Given the description of an element on the screen output the (x, y) to click on. 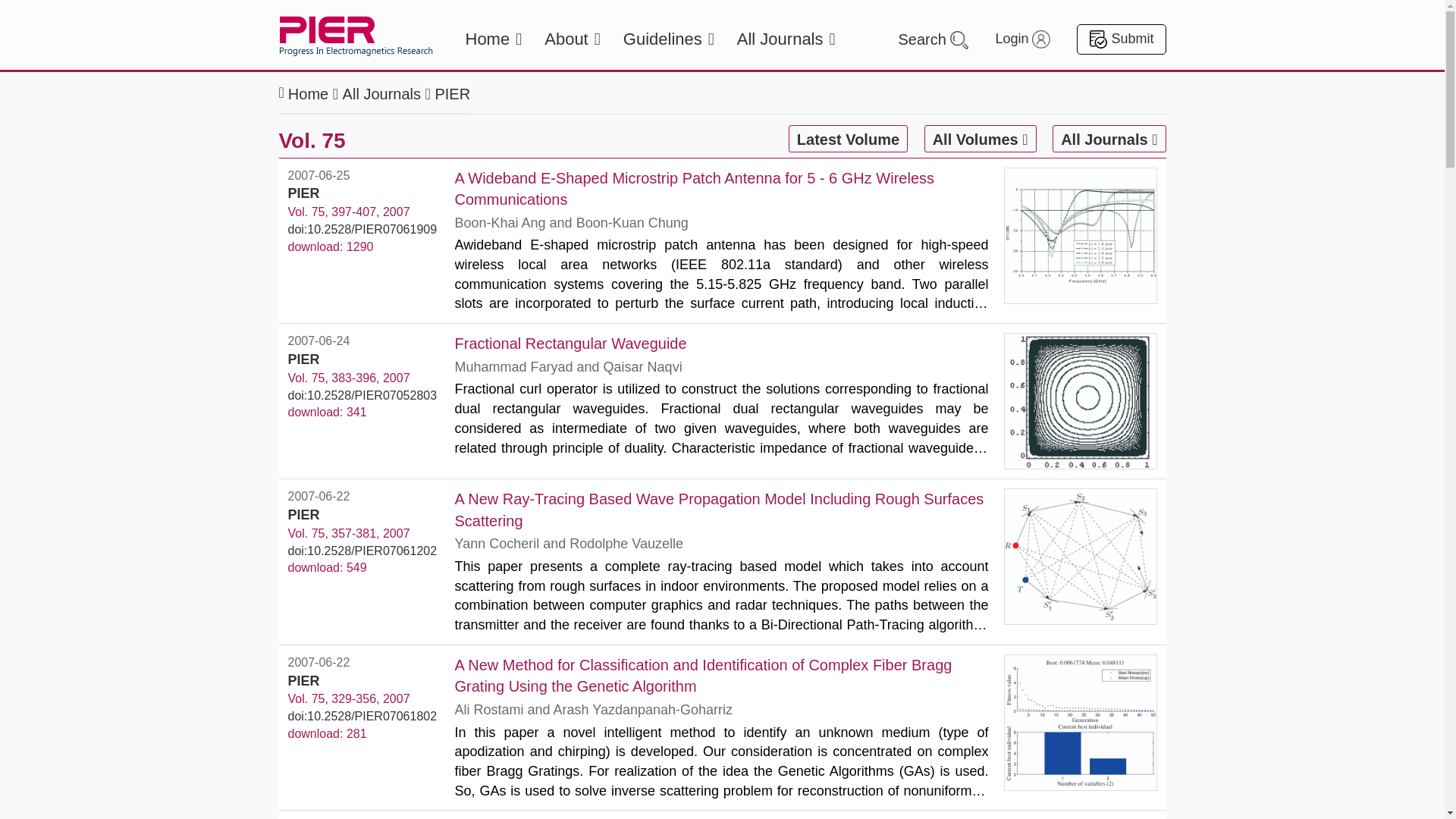
PIER (451, 93)
Submit (1121, 39)
Guidelines (668, 39)
Login (1021, 39)
All Journals (785, 39)
About (571, 39)
All Journals (381, 93)
Home (493, 39)
